Given the description of an element on the screen output the (x, y) to click on. 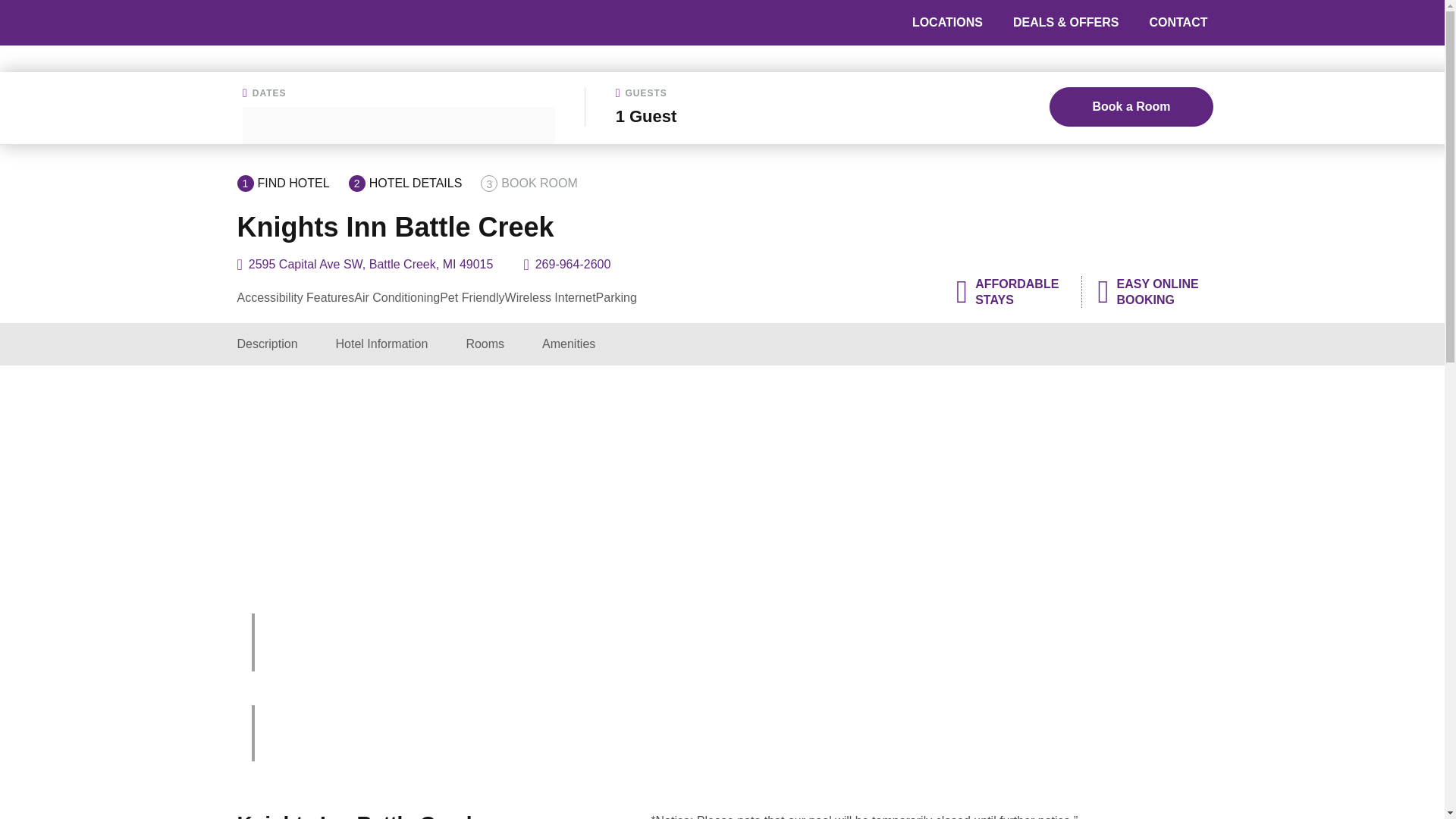
269-964-2600 (573, 264)
Description (266, 343)
Rooms (484, 343)
Amenities (568, 343)
Book a Room (1130, 106)
Hotel Information (382, 343)
CONTACT (1177, 22)
2595 Capital Ave SW, Battle Creek, MI 49015 (370, 264)
LOCATIONS (947, 22)
